Given the description of an element on the screen output the (x, y) to click on. 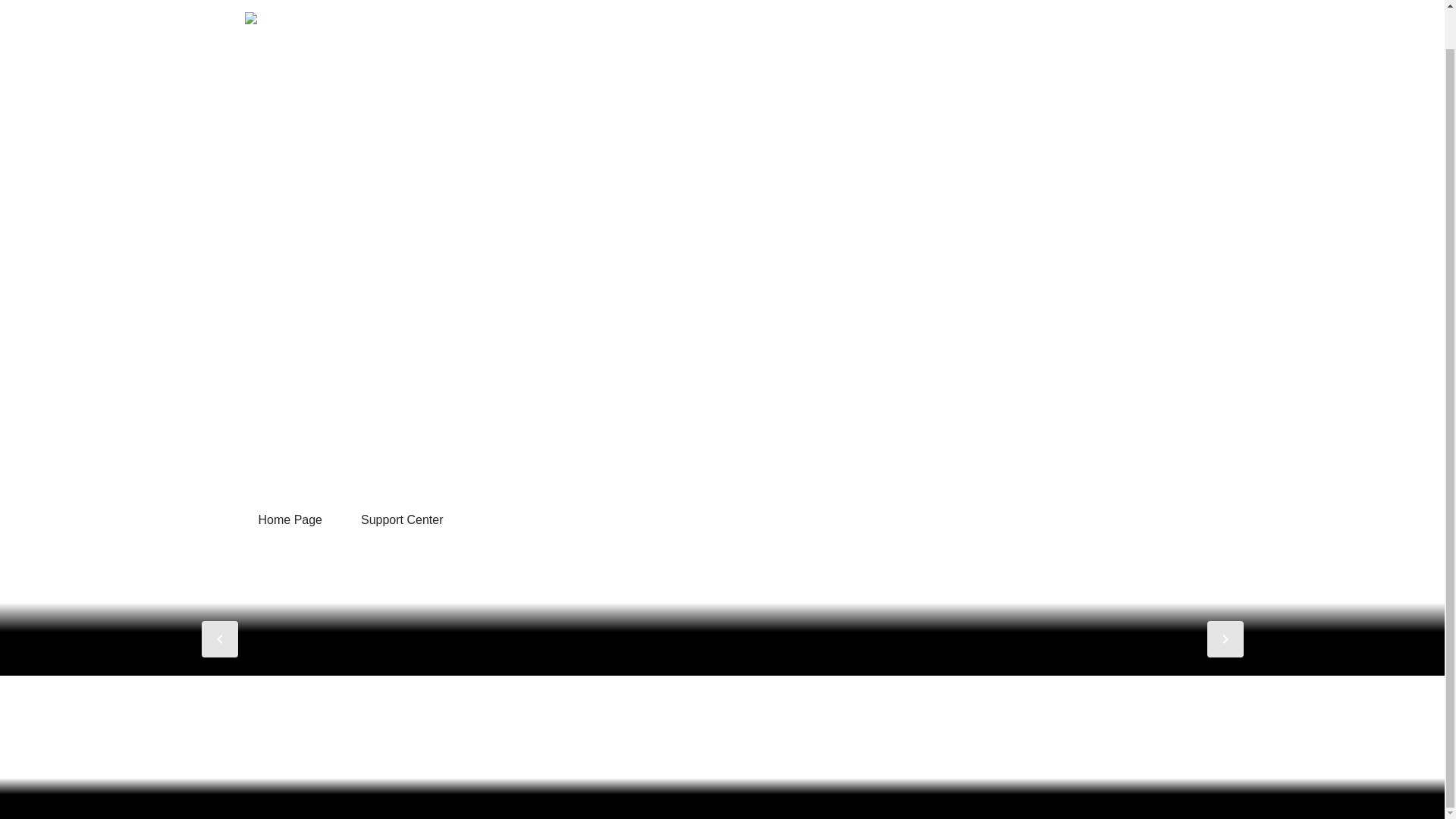
Support Center (402, 520)
Home Page (290, 520)
